Given the description of an element on the screen output the (x, y) to click on. 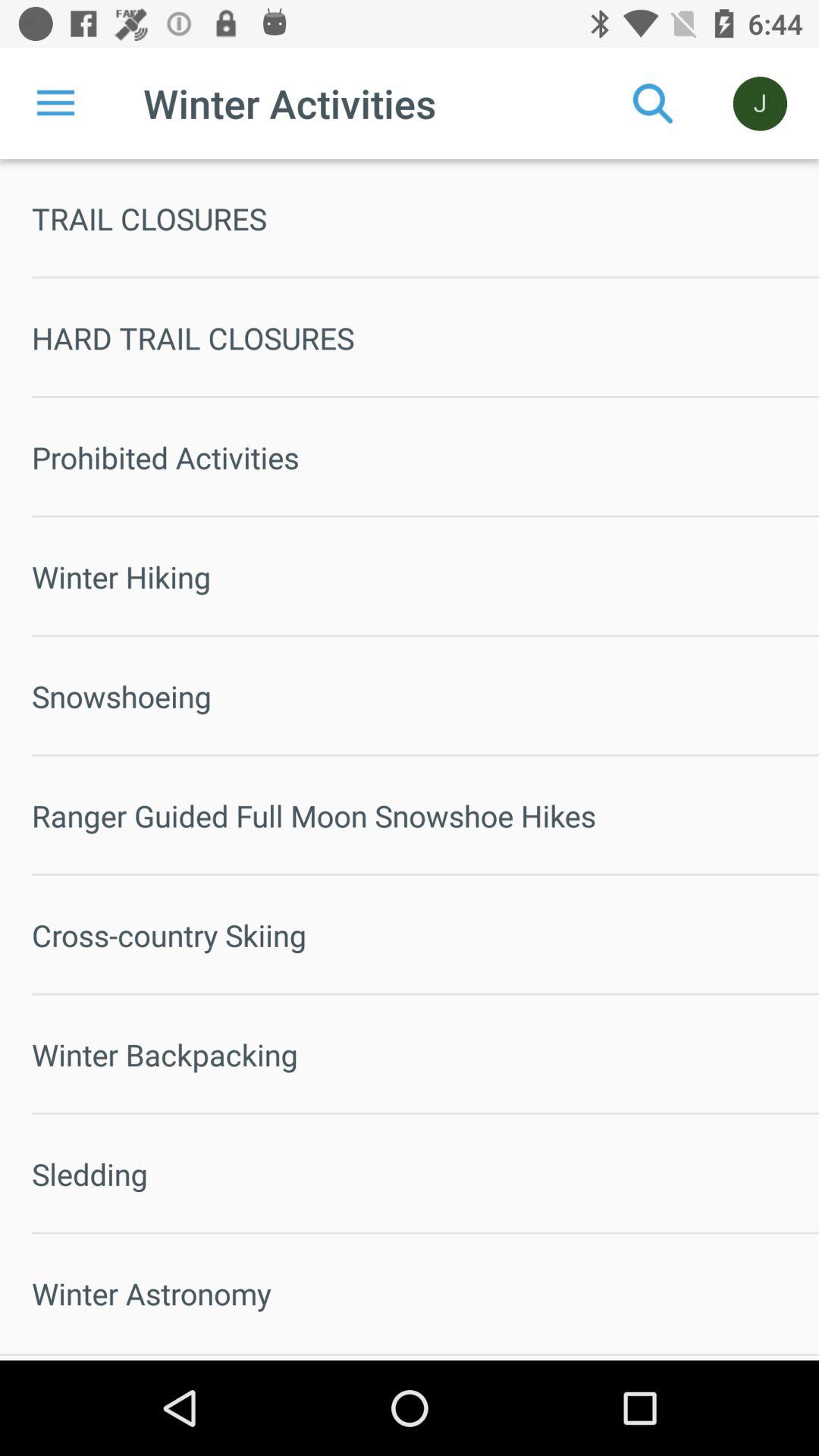
click winter astronomy item (425, 1293)
